Given the description of an element on the screen output the (x, y) to click on. 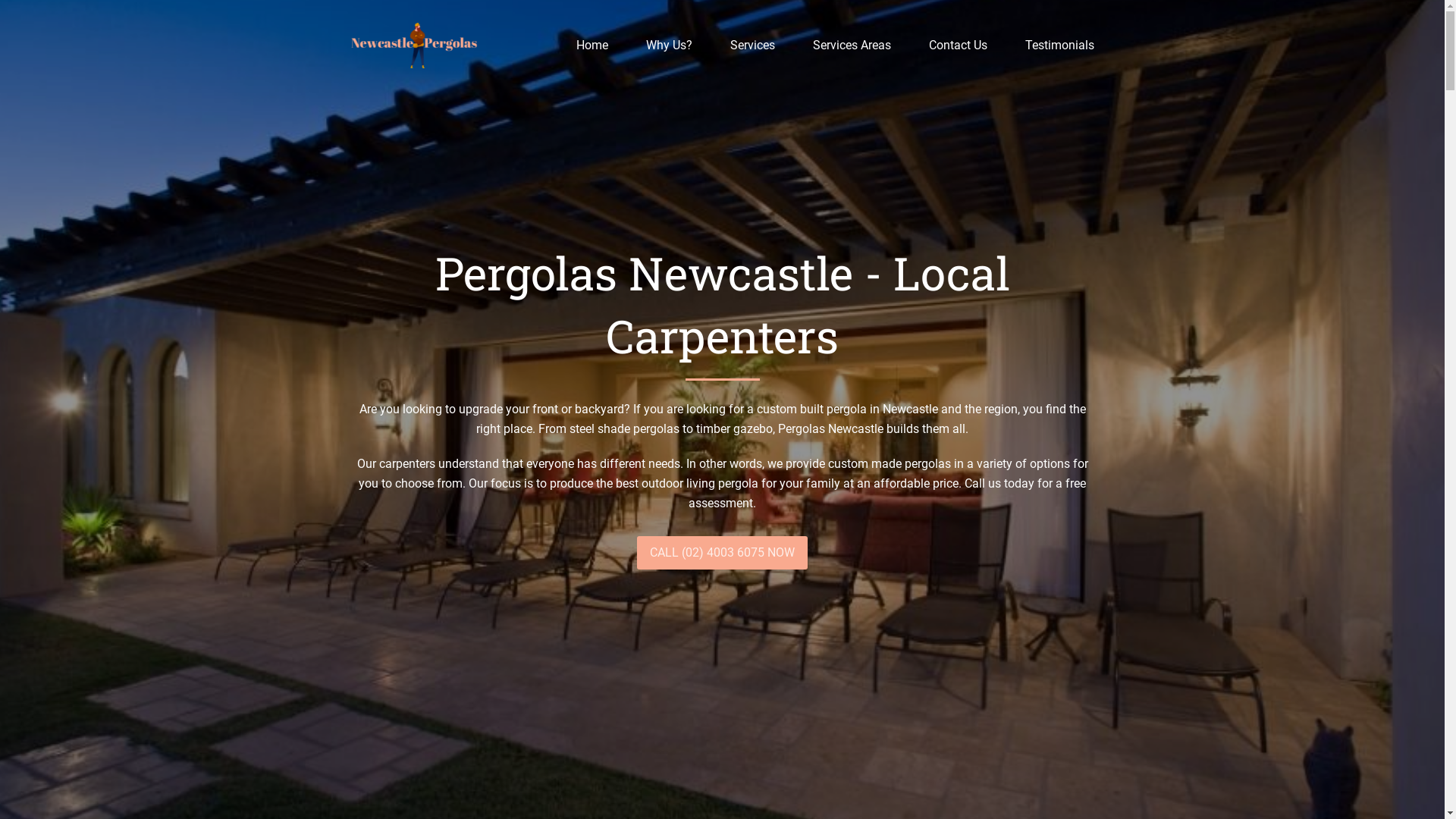
Testimonials Element type: text (1058, 45)
Why Us? Element type: text (667, 45)
CALL (02) 4003 6075 NOW Element type: text (722, 552)
Services Element type: text (752, 45)
Home Element type: text (591, 45)
Services Areas Element type: text (850, 45)
Contact Us Element type: text (957, 45)
